Given the description of an element on the screen output the (x, y) to click on. 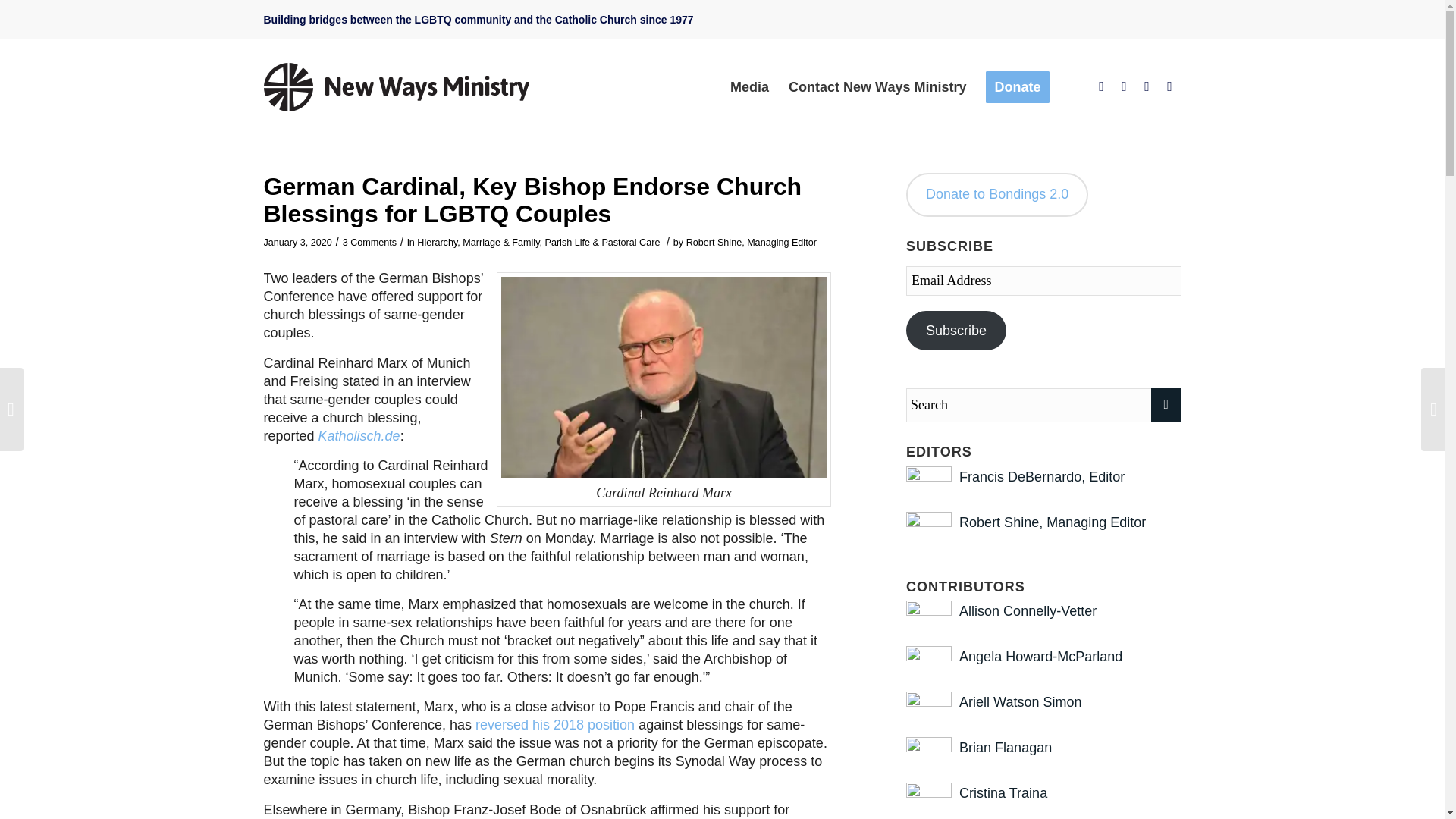
Katholisch.de (359, 435)
Robert Shine, Managing Editor (750, 242)
Posts by Francis DeBernardo, Editor (1041, 476)
Contact New Ways Ministry (876, 87)
Posts by Robert Shine, Managing Editor (750, 242)
3 Comments (369, 242)
Mail (1169, 86)
Hierarchy (436, 242)
Instagram (1146, 86)
Facebook (1101, 86)
